Given the description of an element on the screen output the (x, y) to click on. 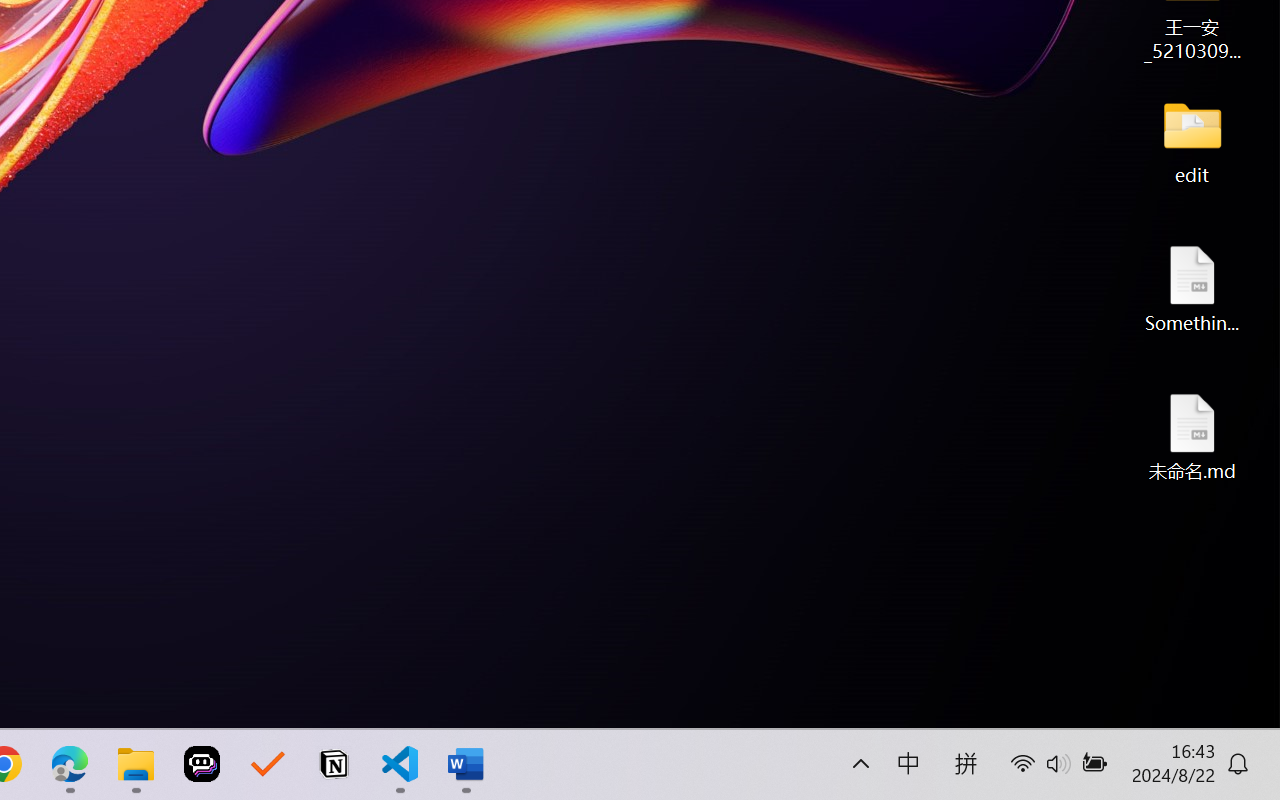
Something.md (1192, 288)
edit (1192, 140)
